Given the description of an element on the screen output the (x, y) to click on. 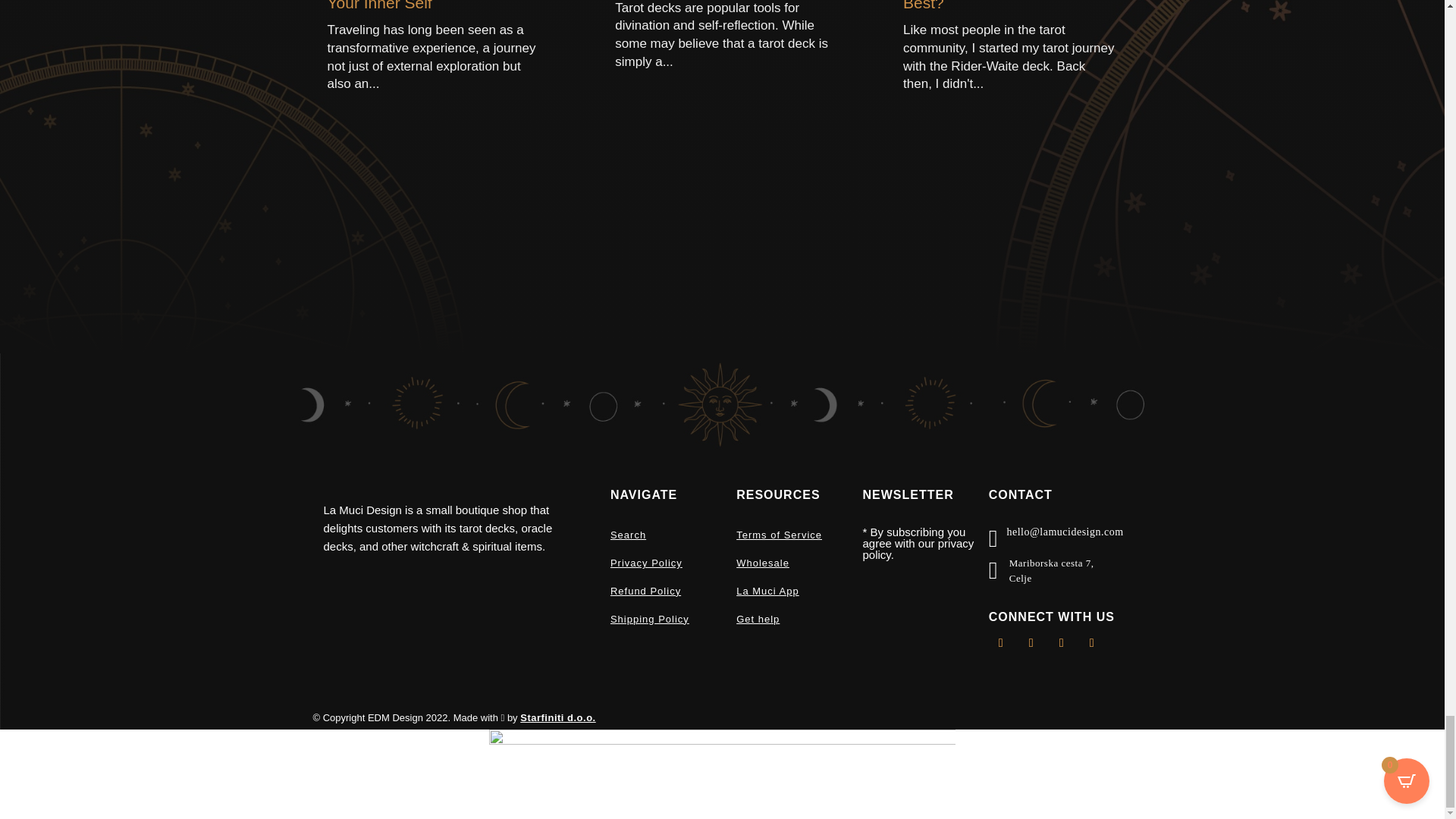
Follow on Instagram (1091, 642)
Follow on Facebook (1000, 642)
Follow on Pinterest (1061, 642)
Follow on X (1031, 642)
